Given the description of an element on the screen output the (x, y) to click on. 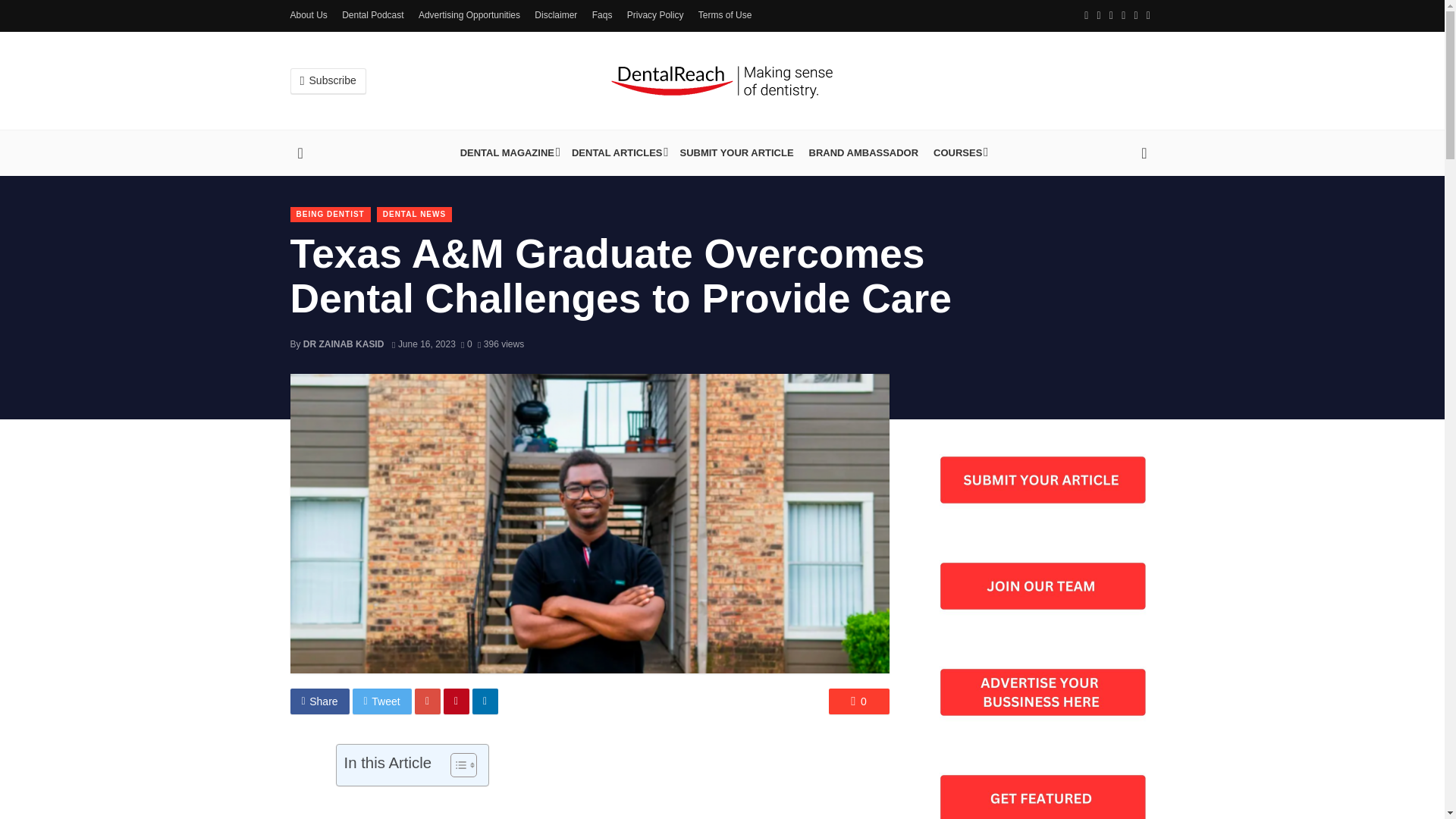
Share on Pinterest (456, 701)
Subscribe (327, 80)
Share on Facebook (319, 701)
Faqs (602, 14)
Posts by Dr Zainab Kasid (343, 344)
Publication (508, 153)
About Us (308, 14)
0 Comments (858, 701)
Dental Podcast (372, 14)
Advertising Opportunities (468, 14)
Terms of Use (725, 14)
DENTAL MAGAZINE (508, 153)
Share on Linkedin (484, 701)
June 16, 2023 at 5:57 am (423, 344)
Share on Twitter (382, 701)
